Given the description of an element on the screen output the (x, y) to click on. 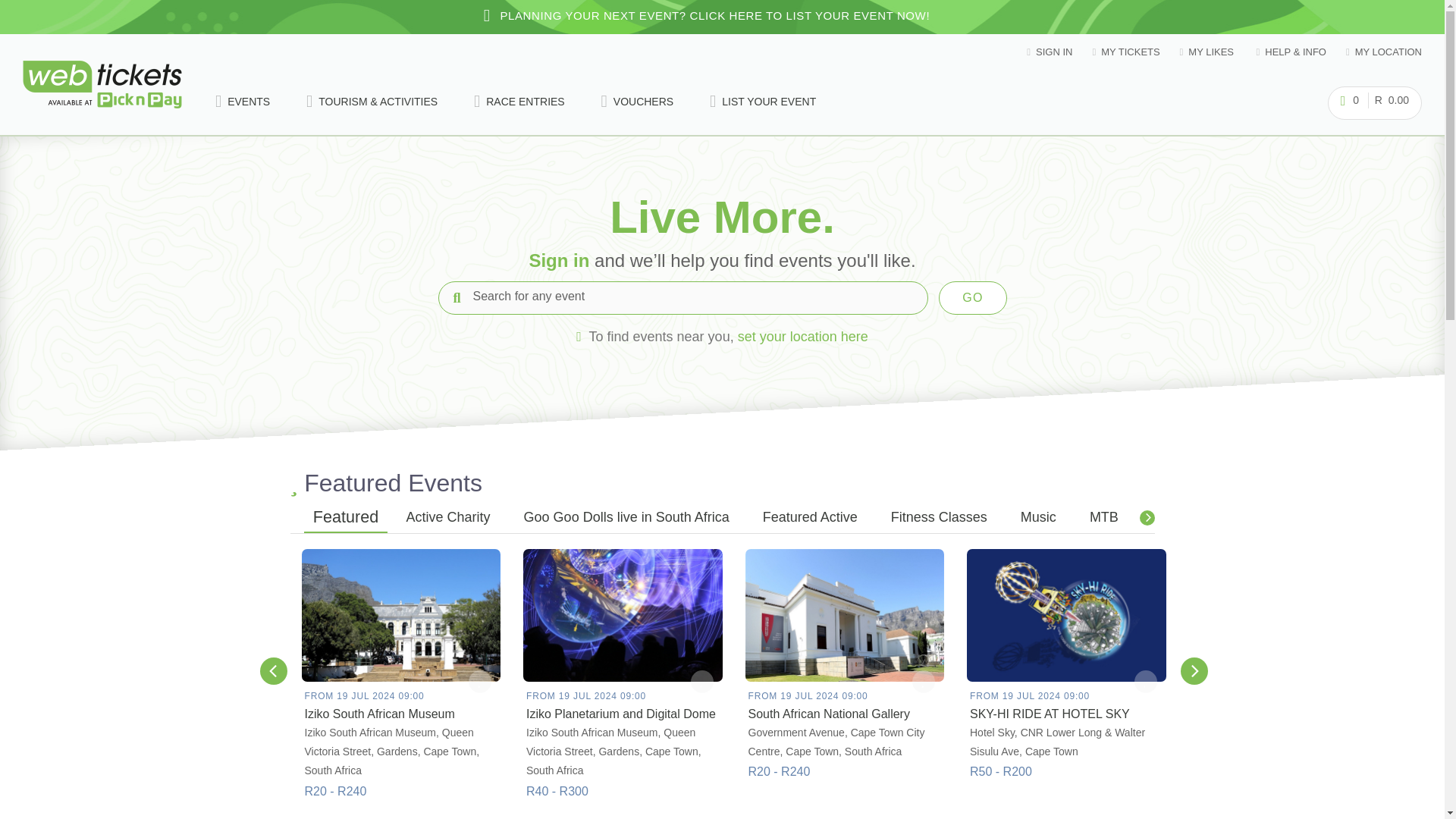
LIST YOUR EVENT (762, 101)
Featured (344, 518)
EVENTS (242, 101)
VOUCHERS (637, 101)
Music (1038, 518)
SIGN IN (1048, 51)
MY TICKETS (1125, 51)
MY LIKES  (1207, 51)
MTB (1103, 518)
RACE ENTRIES (518, 101)
Goo Goo Dolls live in South Africa (626, 518)
Active Charity (448, 518)
Fitness Classes (938, 518)
Featured Active (810, 518)
